Given the description of an element on the screen output the (x, y) to click on. 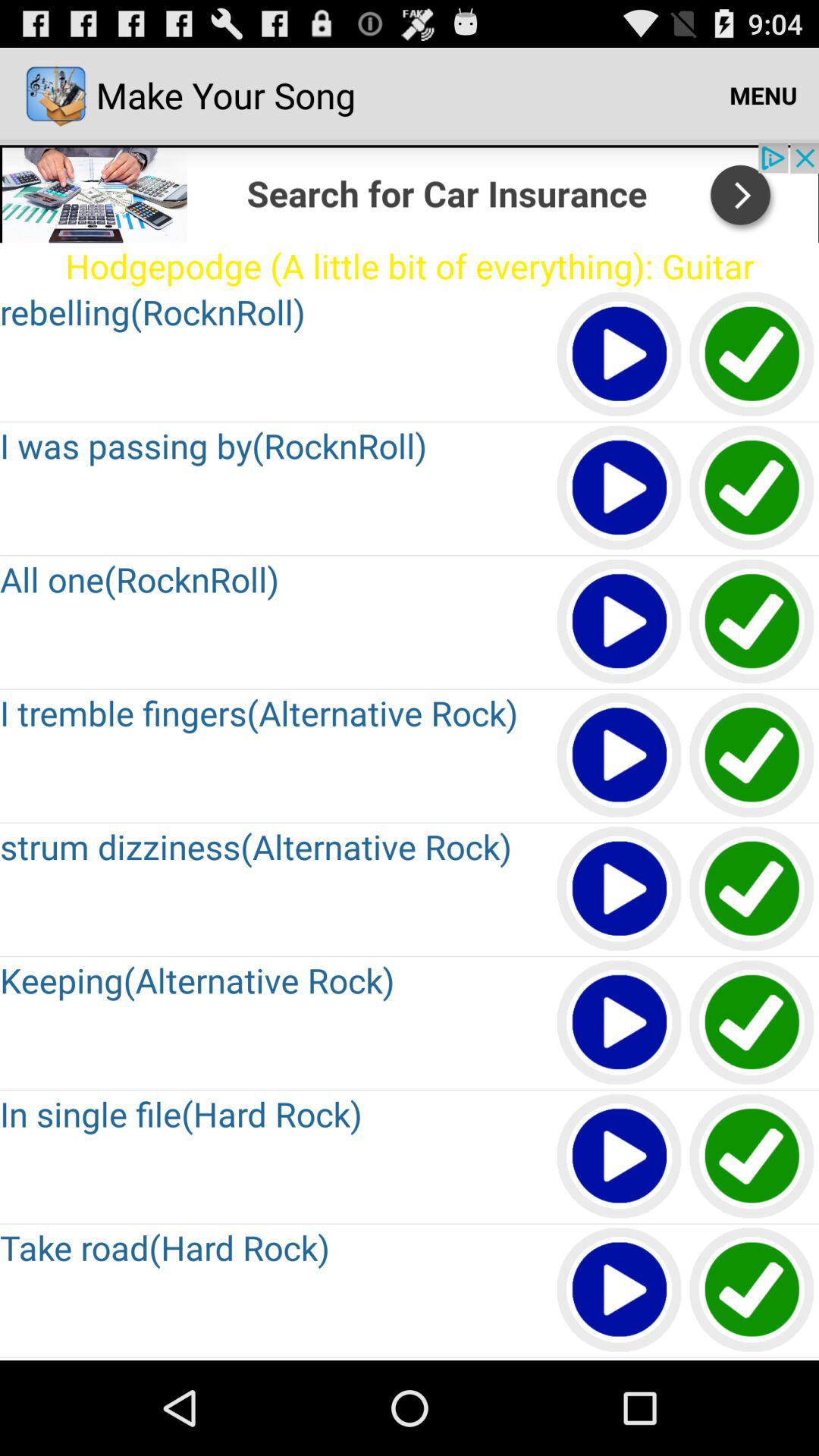
right button (752, 354)
